Given the description of an element on the screen output the (x, y) to click on. 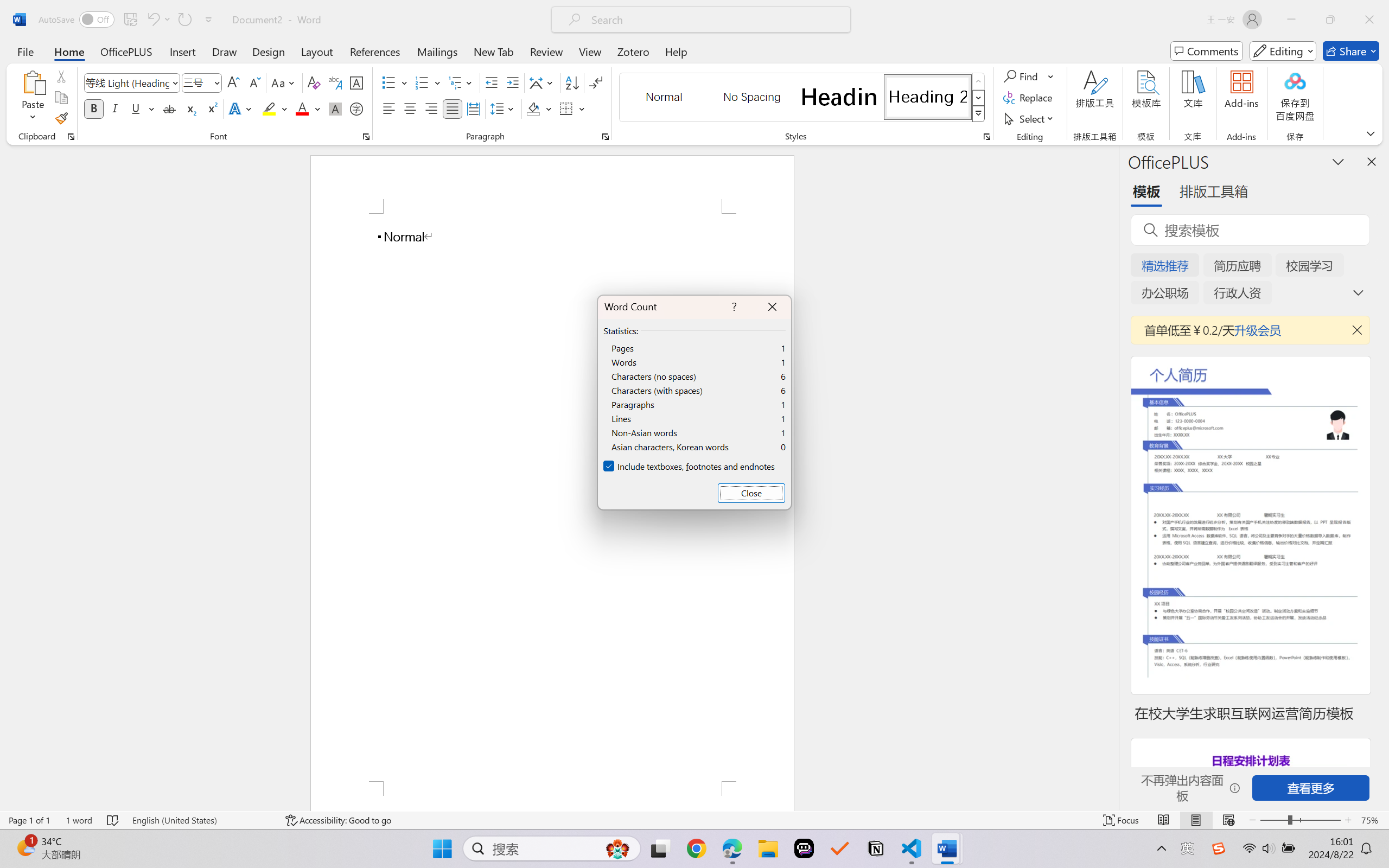
Numbering (421, 82)
Styles... (986, 136)
Show/Hide Editing Marks (595, 82)
View (589, 51)
Customize Quick Access Toolbar (208, 19)
Bullets (395, 82)
Line and Paragraph Spacing (503, 108)
Focus  (1121, 819)
AutomationID: BadgeAnchorLargeTicker (24, 847)
Notion (875, 848)
Zoom In (1348, 819)
